Given the description of an element on the screen output the (x, y) to click on. 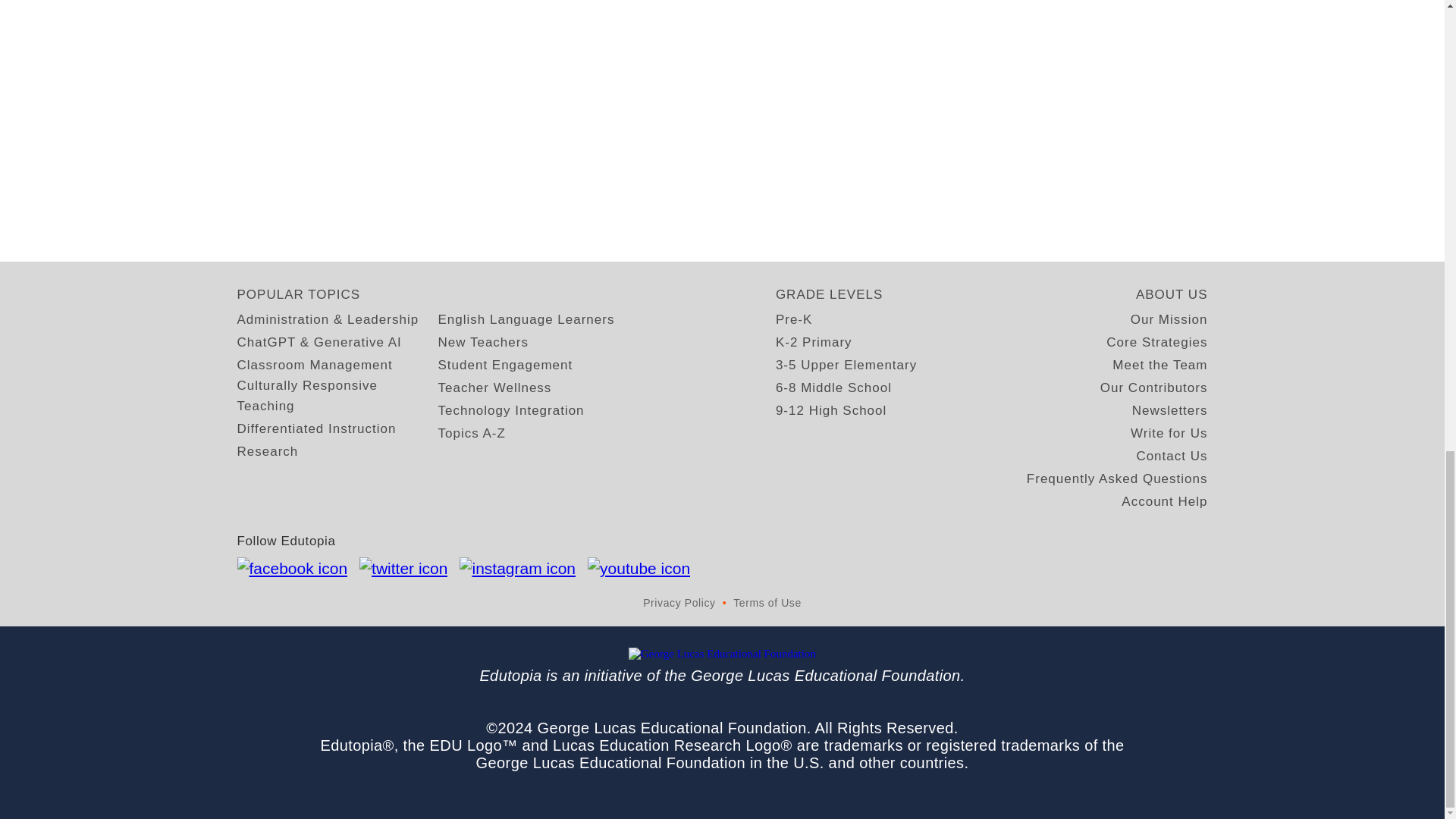
Pre-K (794, 319)
Our Mission (1169, 319)
Culturally Responsive Teaching (336, 395)
Classroom Management (313, 364)
Research (266, 451)
Differentiated Instruction (315, 428)
9-12 High School (831, 410)
K-2 Primary (813, 342)
Technology Integration (511, 410)
Meet the Team (1159, 364)
